Given the description of an element on the screen output the (x, y) to click on. 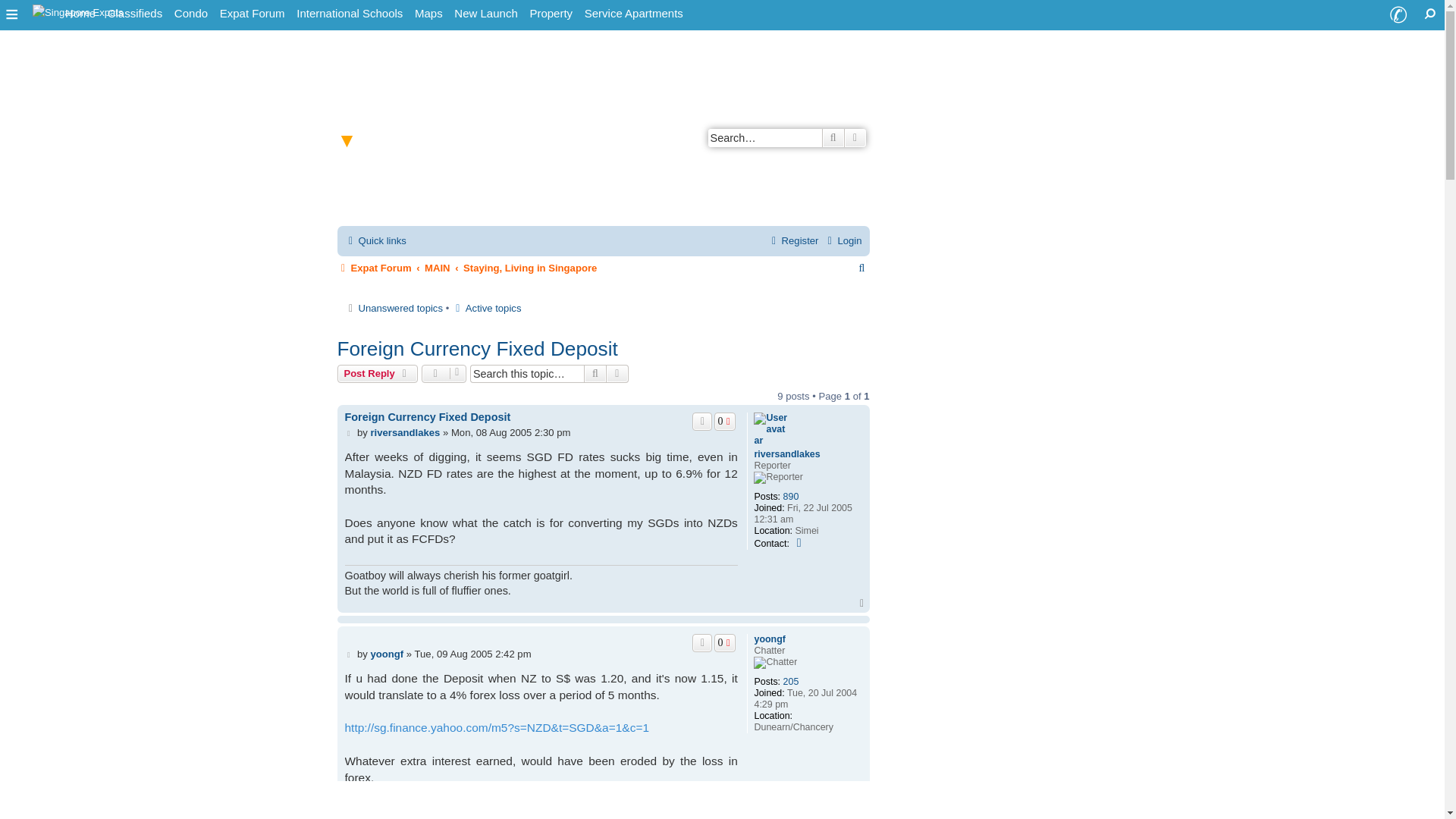
Singapore Street Maps (428, 13)
Maps (428, 13)
Singapore Expats Forum (252, 13)
Home (80, 13)
New Launch (485, 13)
Contact Us (1397, 15)
Singapore Classified Ads (135, 13)
Property (550, 13)
Expat Forum (252, 13)
Singapore Condo Directory (191, 13)
